Given the description of an element on the screen output the (x, y) to click on. 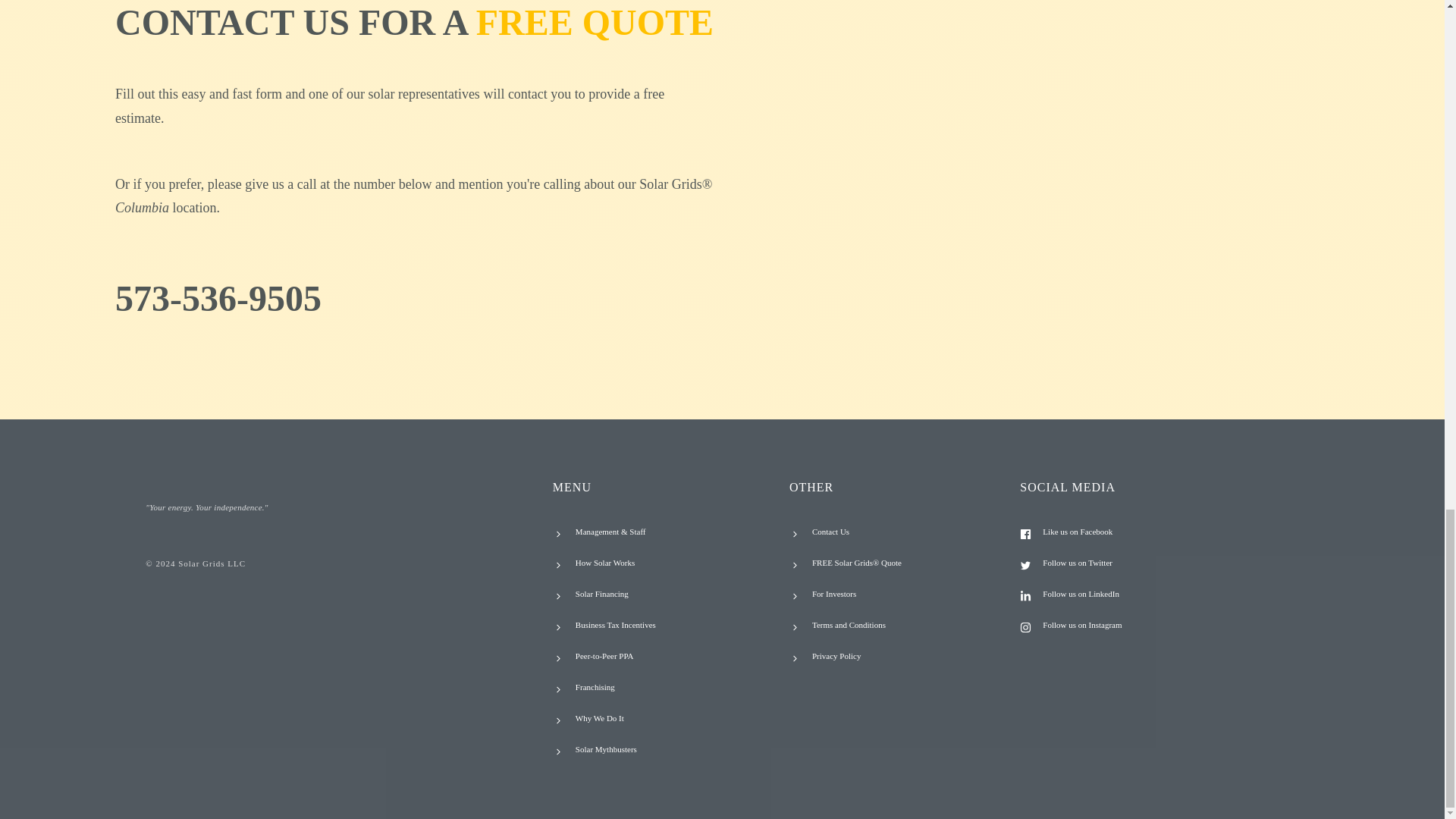
How Solar Works (604, 562)
For Investors (834, 593)
Terms and Conditions (848, 624)
Like us on Facebook (1077, 531)
Why We Do It (599, 717)
Business Tax Incentives (615, 624)
Peer-to-Peer PPA (604, 655)
Contact Us (830, 531)
Follow us on Twitter (1077, 562)
Solar Financing (601, 593)
